Given the description of an element on the screen output the (x, y) to click on. 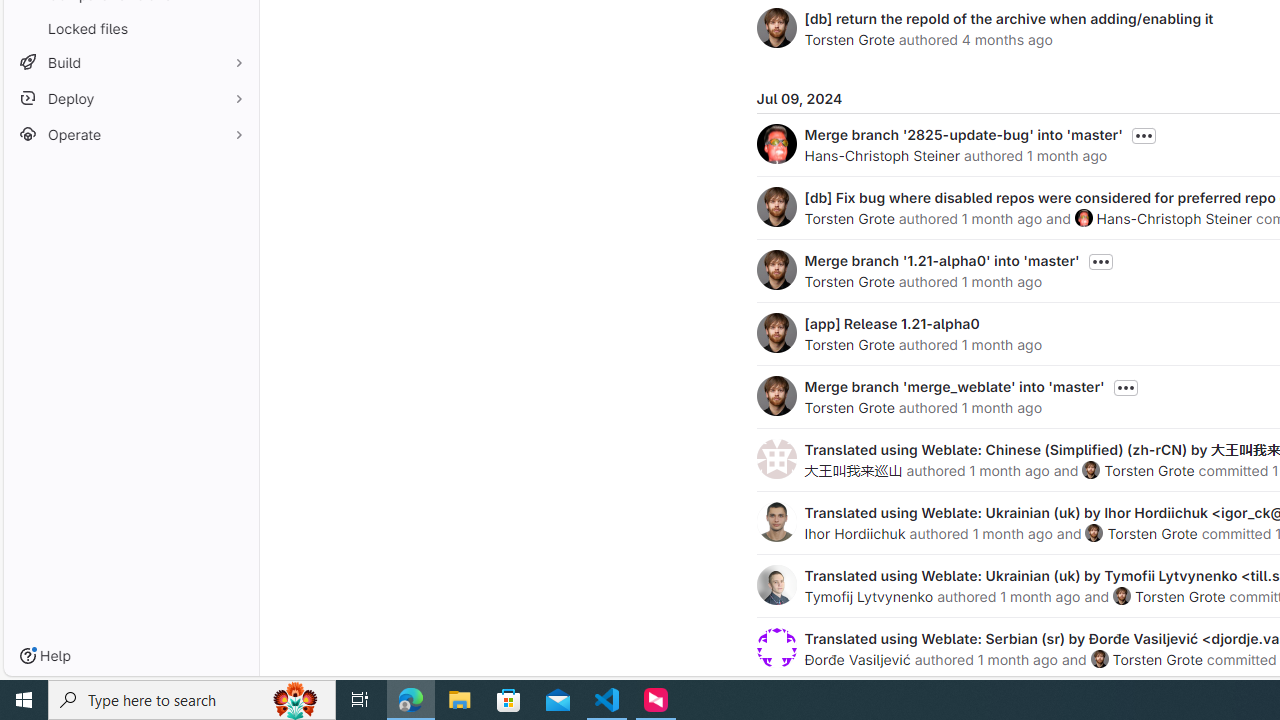
Locked files (130, 28)
Tymofij Lytvynenko's avatar (776, 584)
Locked files (130, 28)
Torsten Grote's avatar (1099, 659)
